Given the description of an element on the screen output the (x, y) to click on. 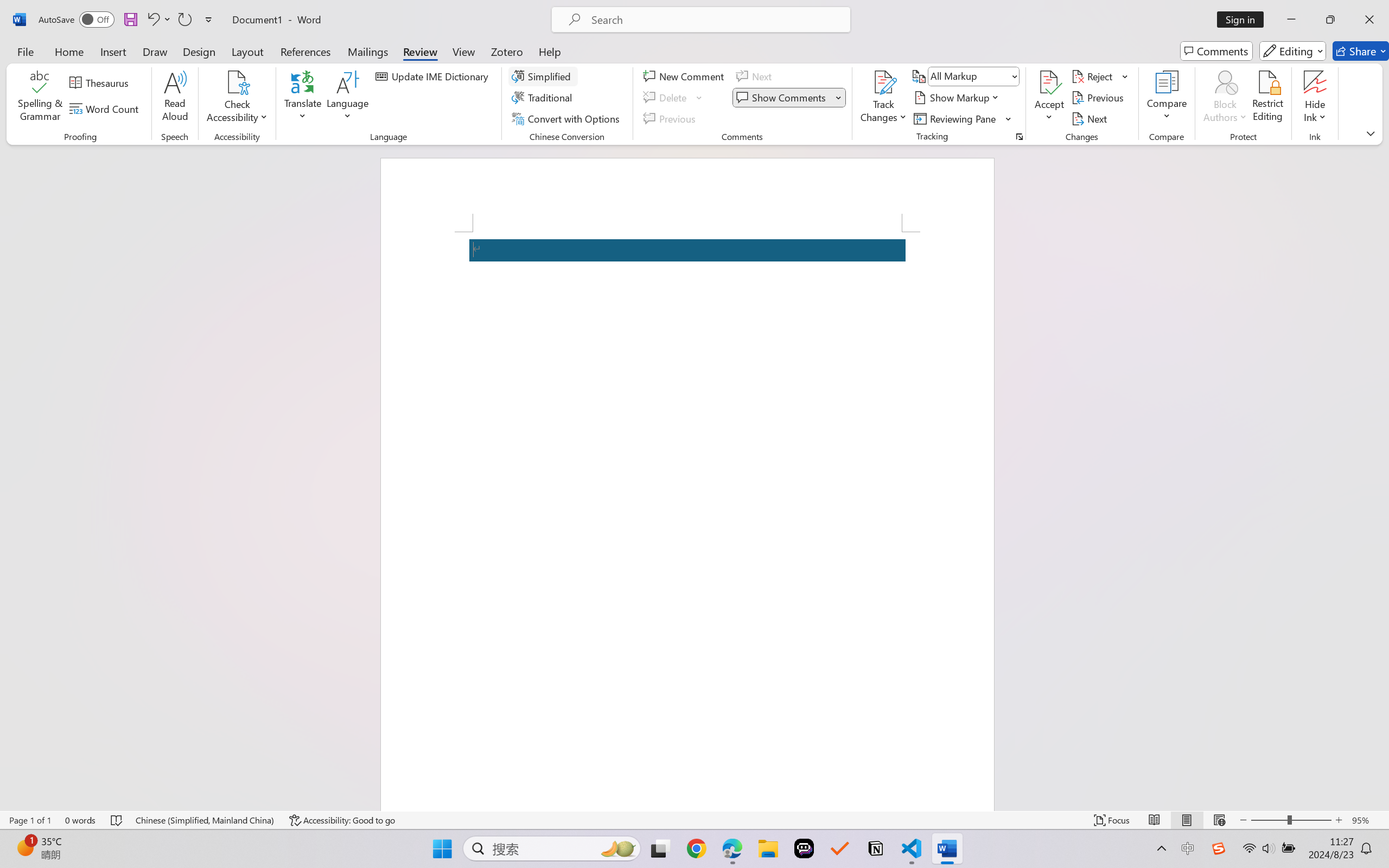
New Comment (685, 75)
Hide Ink (1315, 97)
Block Authors (1224, 97)
Compare (1166, 97)
